Given the description of an element on the screen output the (x, y) to click on. 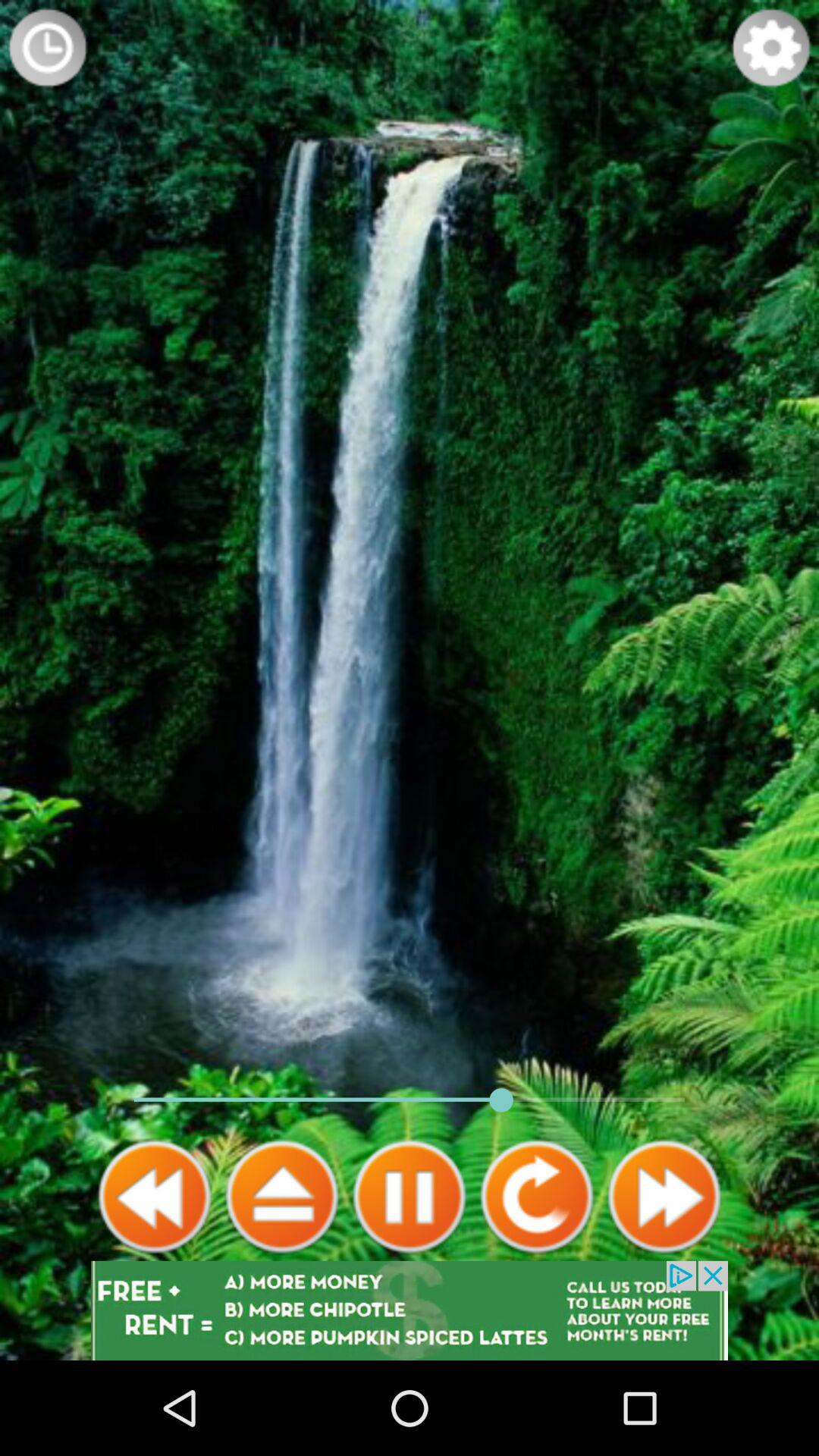
go to play box (281, 1196)
